Given the description of an element on the screen output the (x, y) to click on. 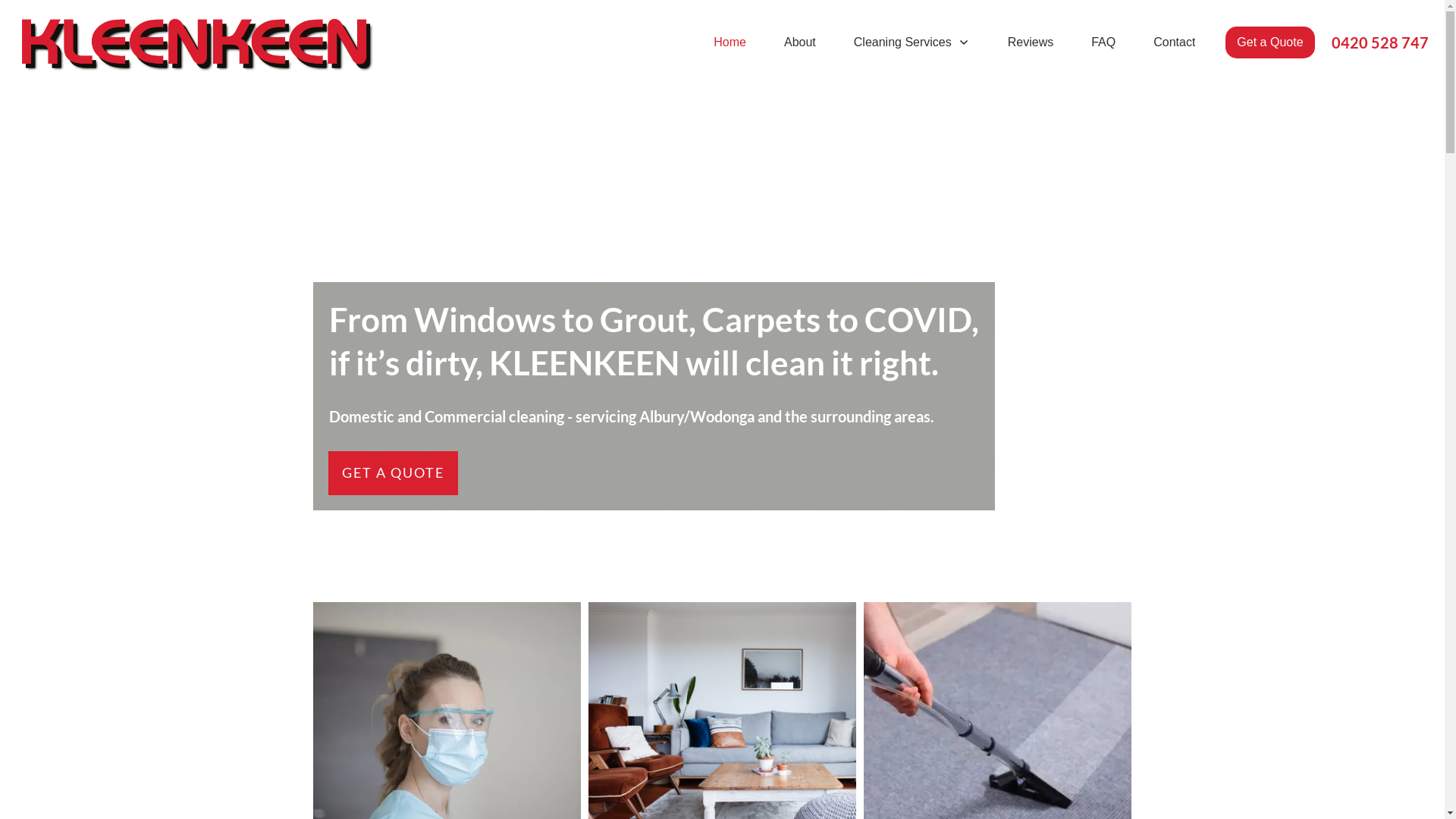
0420 528 747 Element type: text (1379, 42)
Cleaning Services Element type: text (911, 42)
FAQ Element type: text (1103, 42)
Reviews Element type: text (1030, 42)
GET A QUOTE Element type: text (392, 473)
About Element type: text (799, 42)
Home Element type: text (729, 42)
Get a Quote Element type: text (1269, 42)
Contact Element type: text (1174, 42)
